Given the description of an element on the screen output the (x, y) to click on. 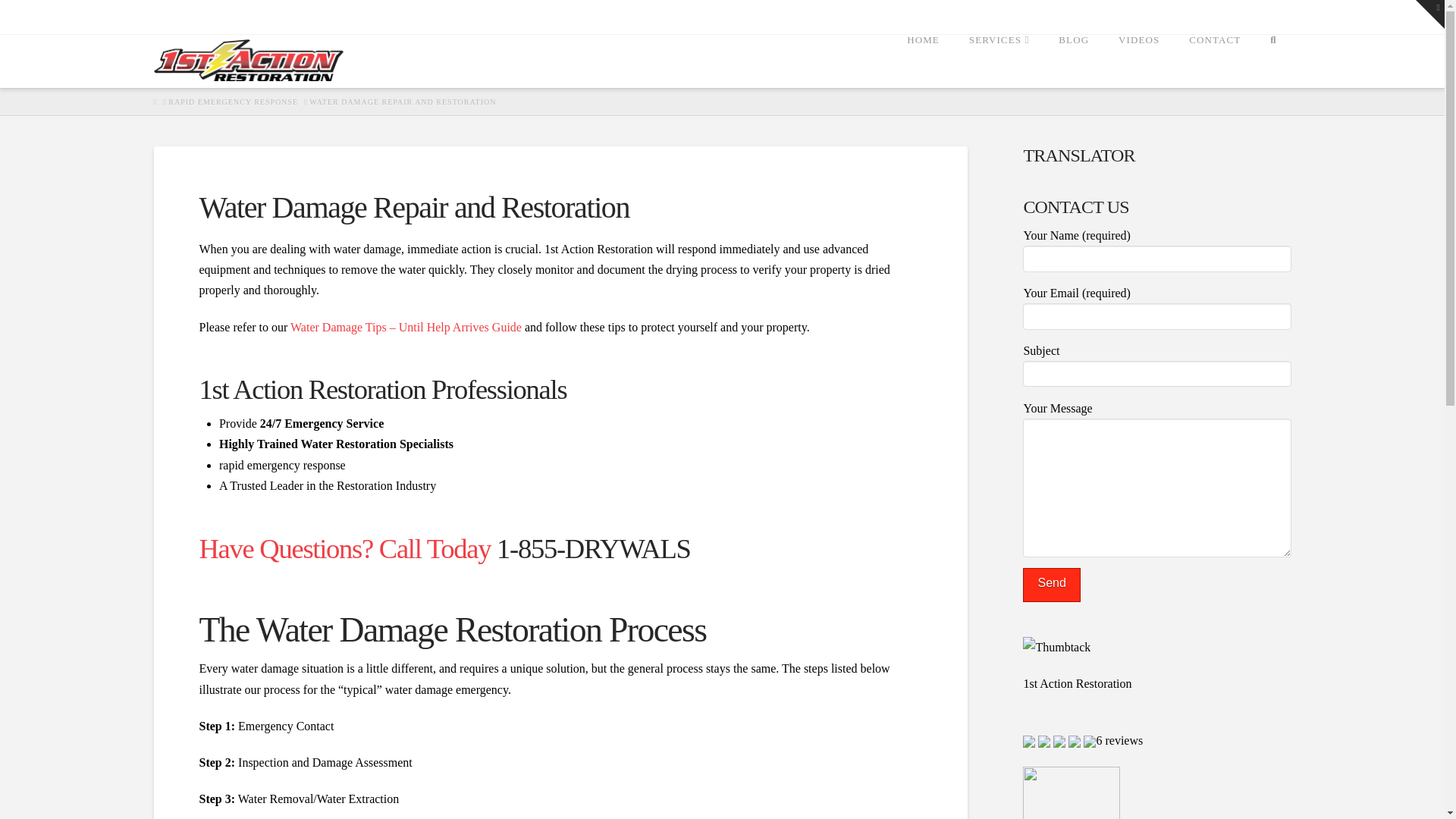
HOME (922, 61)
CONTACT (1214, 61)
VIDEOS (1138, 61)
1-855-DRYWALS (593, 548)
BLOG (1073, 61)
You Are Here (402, 102)
Send (1051, 584)
WATER DAMAGE REPAIR AND RESTORATION (402, 102)
SERVICES (998, 61)
RAPID EMERGENCY RESPONSE (233, 102)
Send (1051, 584)
